Given the description of an element on the screen output the (x, y) to click on. 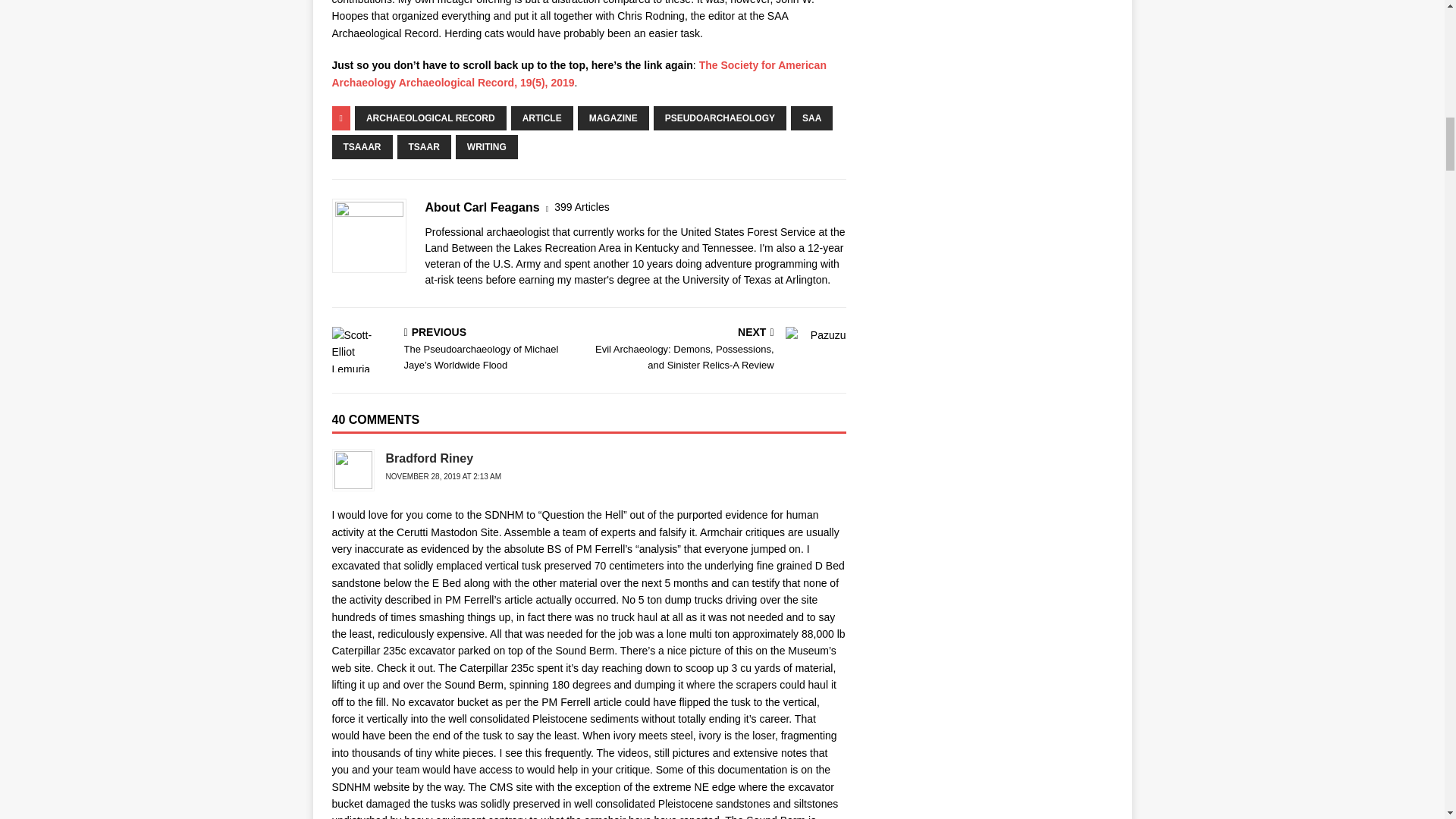
399 Articles (581, 207)
More articles written by Carl Feagans' (581, 207)
WRITING (486, 146)
TSAAR (424, 146)
SAA (811, 118)
TSAAAR (362, 146)
ARTICLE (542, 118)
MAGAZINE (613, 118)
NOVEMBER 28, 2019 AT 2:13 AM (442, 476)
PSEUDOARCHAEOLOGY (719, 118)
